Given the description of an element on the screen output the (x, y) to click on. 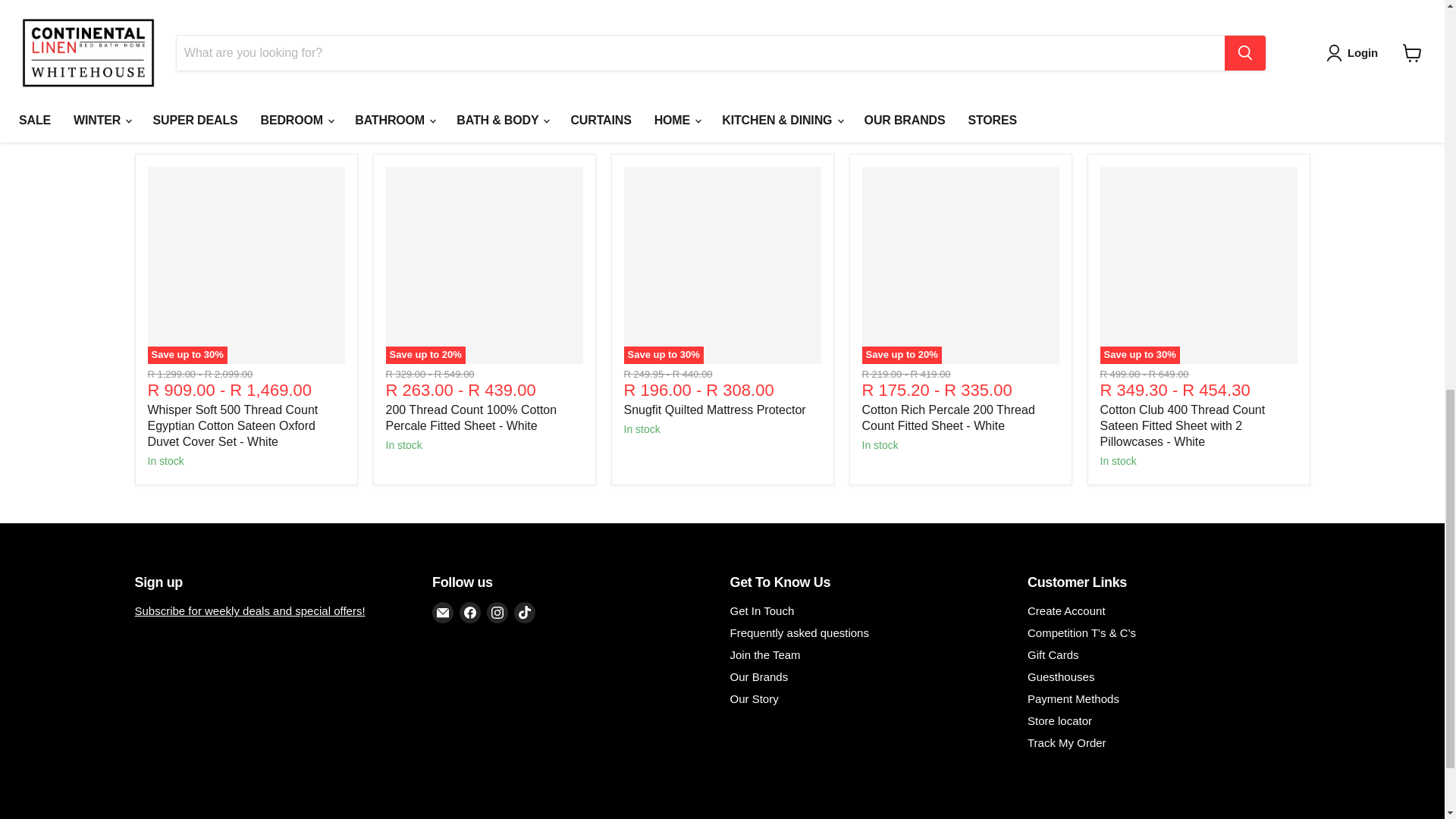
Sign Up! (250, 610)
TikTok (524, 612)
Facebook (470, 612)
Instagram (497, 612)
Email (442, 612)
